Given the description of an element on the screen output the (x, y) to click on. 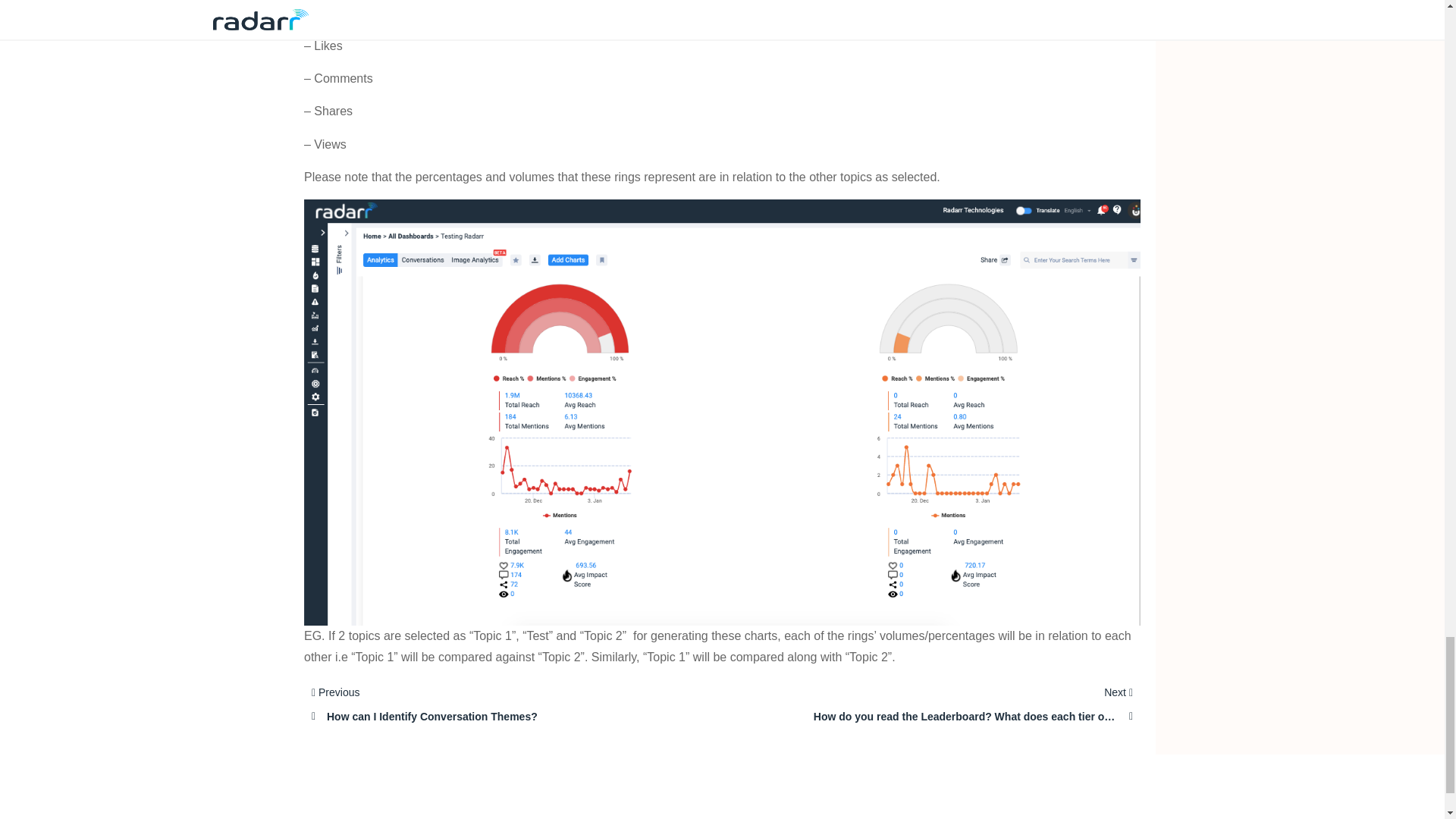
How can I Identify Conversation Themes? (470, 716)
